Given the description of an element on the screen output the (x, y) to click on. 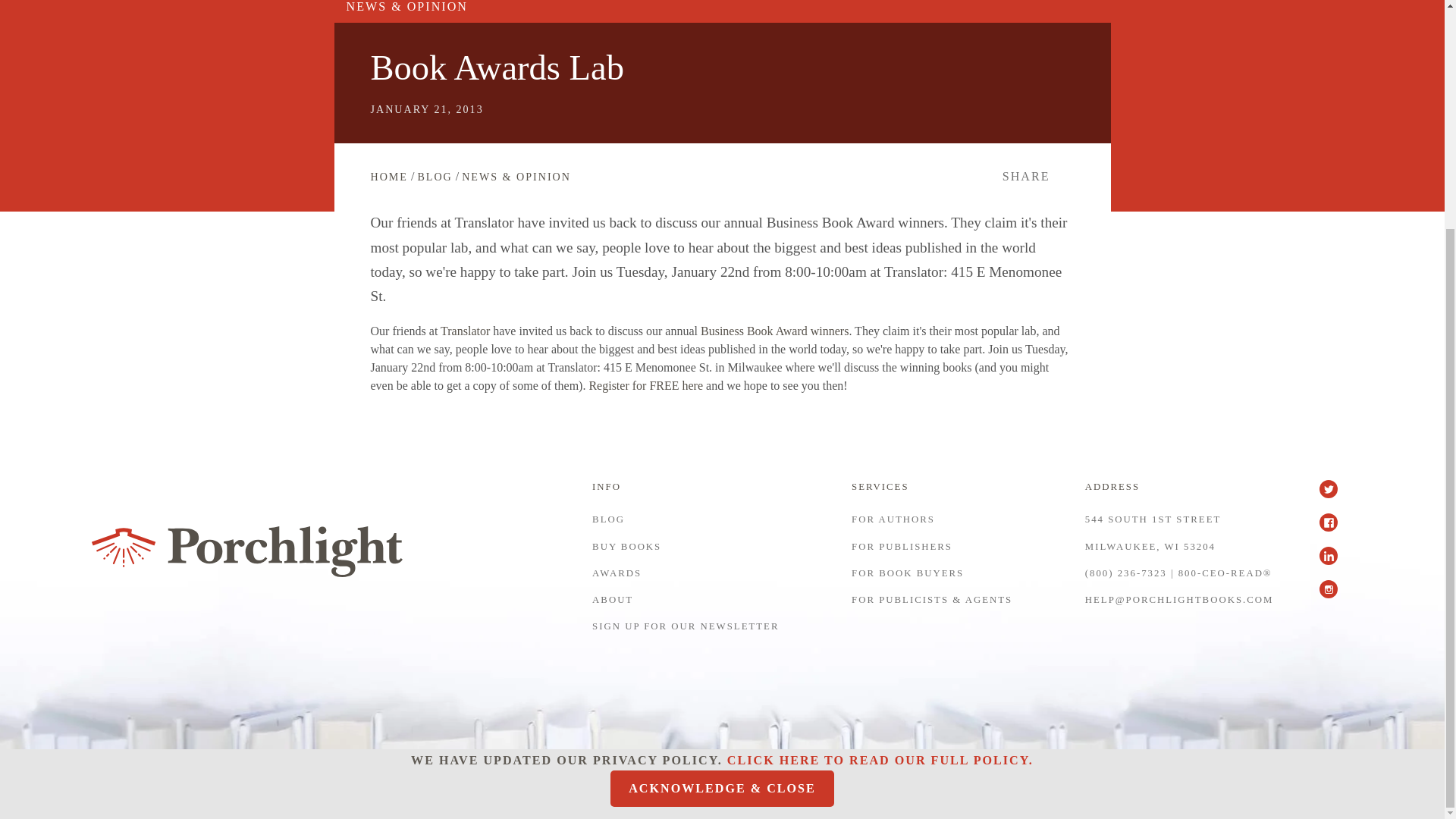
LinkedIn (1335, 563)
Blog (433, 176)
Facebook (1335, 530)
Instagram (1335, 596)
Twitter (1335, 496)
